Given the description of an element on the screen output the (x, y) to click on. 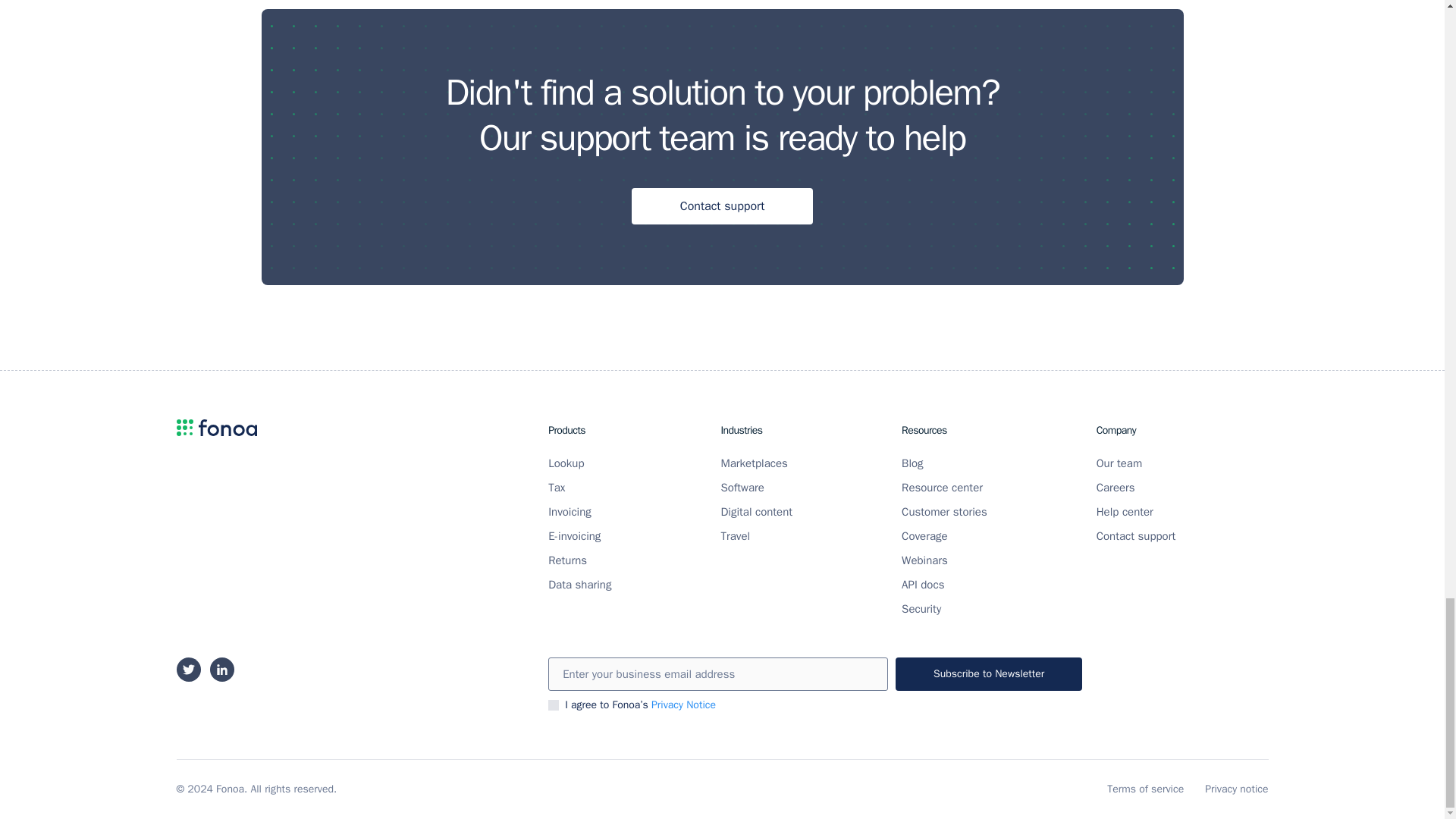
on (553, 705)
